Given the description of an element on the screen output the (x, y) to click on. 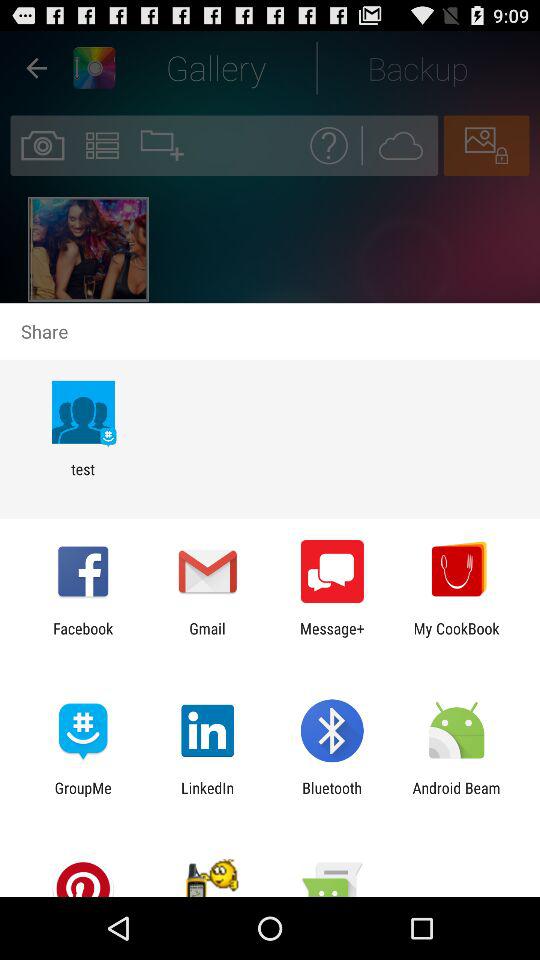
choose app next to facebook app (207, 637)
